Given the description of an element on the screen output the (x, y) to click on. 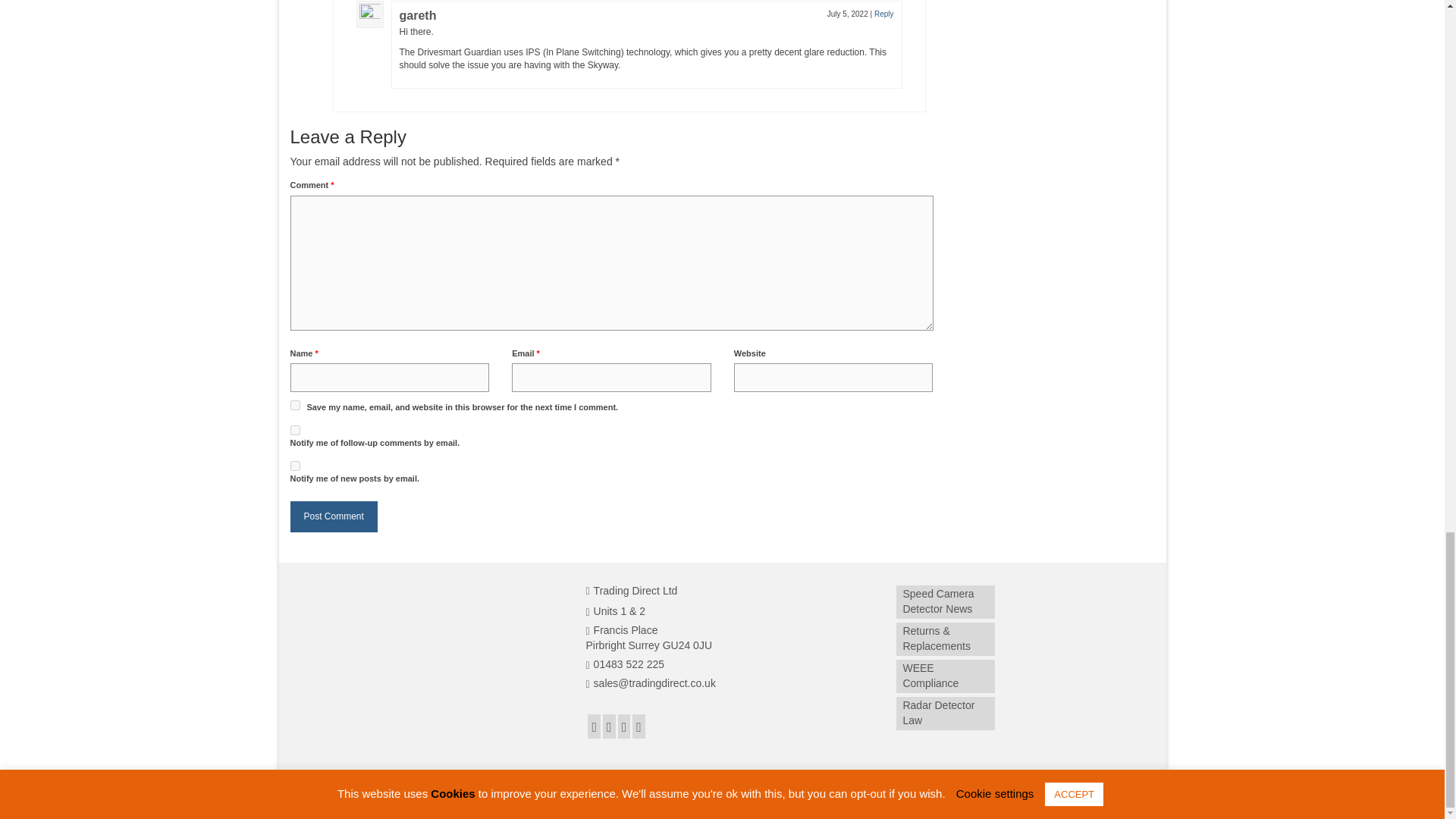
Post Comment (333, 516)
Post Comment (333, 516)
Reply (884, 13)
subscribe (294, 429)
yes (294, 405)
subscribe (294, 465)
